Given the description of an element on the screen output the (x, y) to click on. 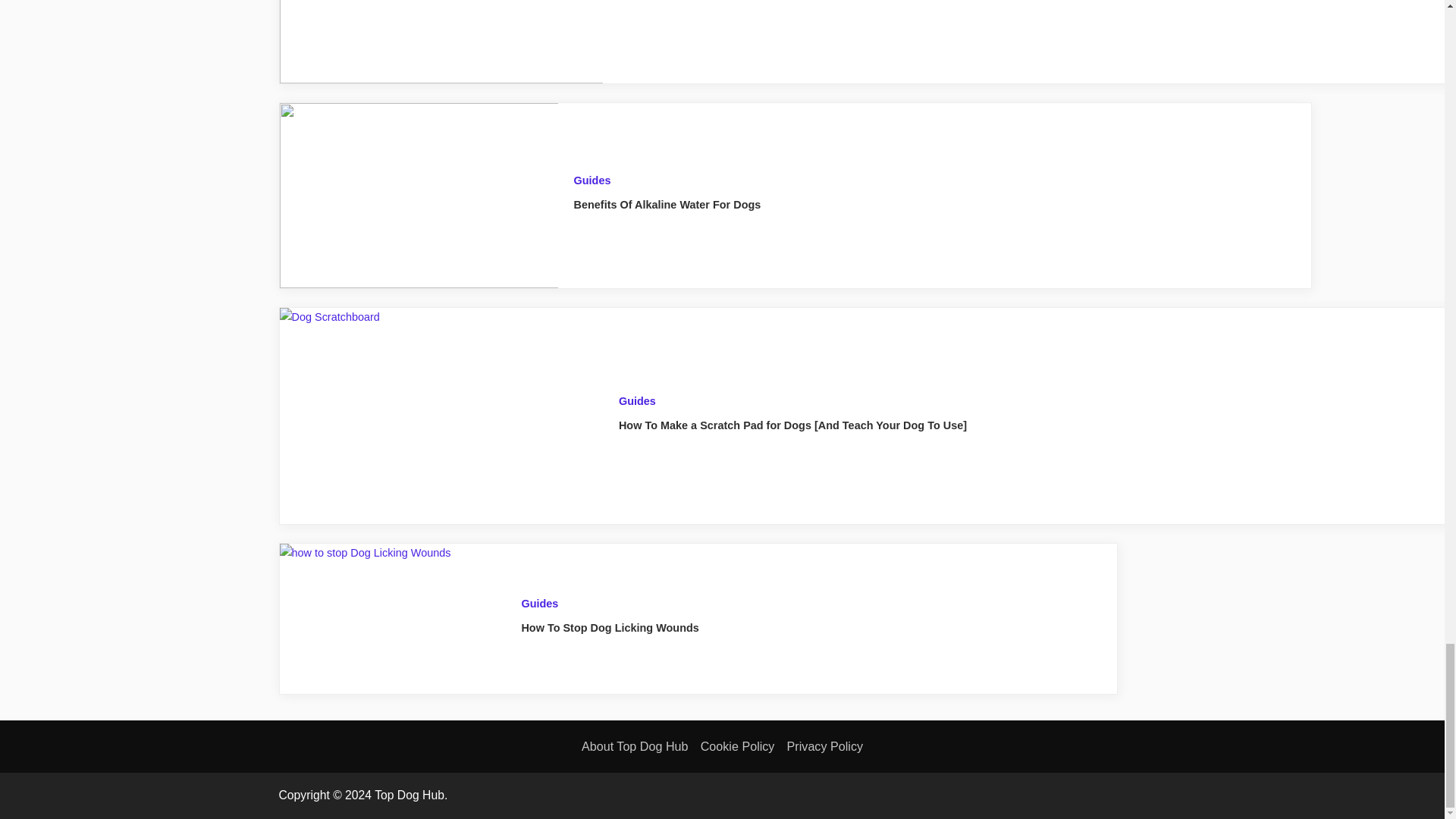
Guides (637, 400)
Benefits Of Alkaline Water For Dogs (667, 204)
Guides (592, 180)
Guides (539, 603)
How To Stop Dog Licking Wounds (609, 627)
